Given the description of an element on the screen output the (x, y) to click on. 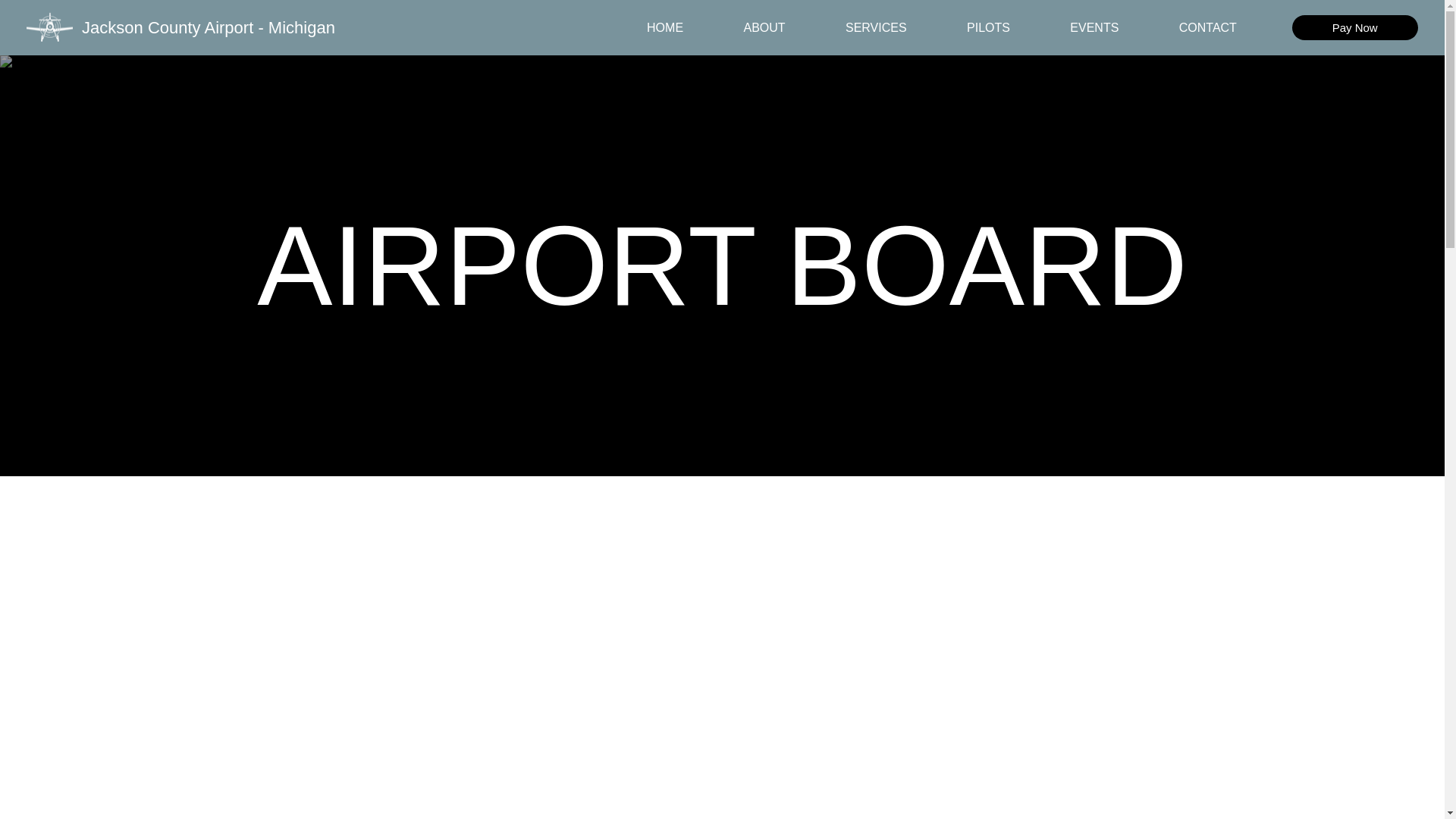
HOME (665, 27)
PILOTS (987, 27)
Jackson County Airport - Michigan (207, 27)
CONTACT (1207, 27)
ABOUT (764, 27)
Pay Now (1355, 27)
EVENTS (1094, 27)
